Given the description of an element on the screen output the (x, y) to click on. 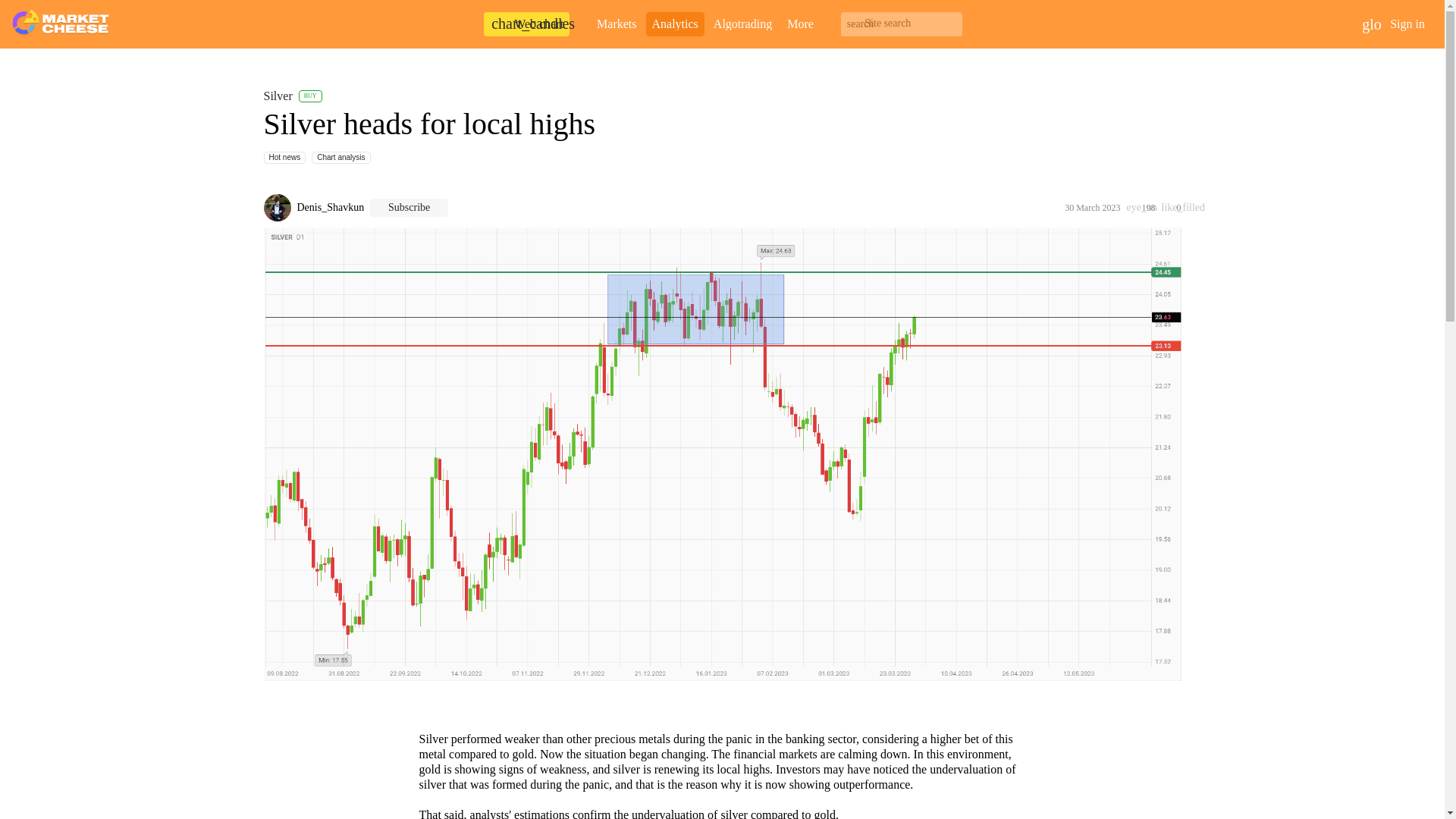
Chart analysis (341, 157)
More (799, 24)
Silver (280, 96)
Markets (616, 24)
Analytics (675, 24)
Algotrading (742, 24)
Hot news (283, 157)
